Given the description of an element on the screen output the (x, y) to click on. 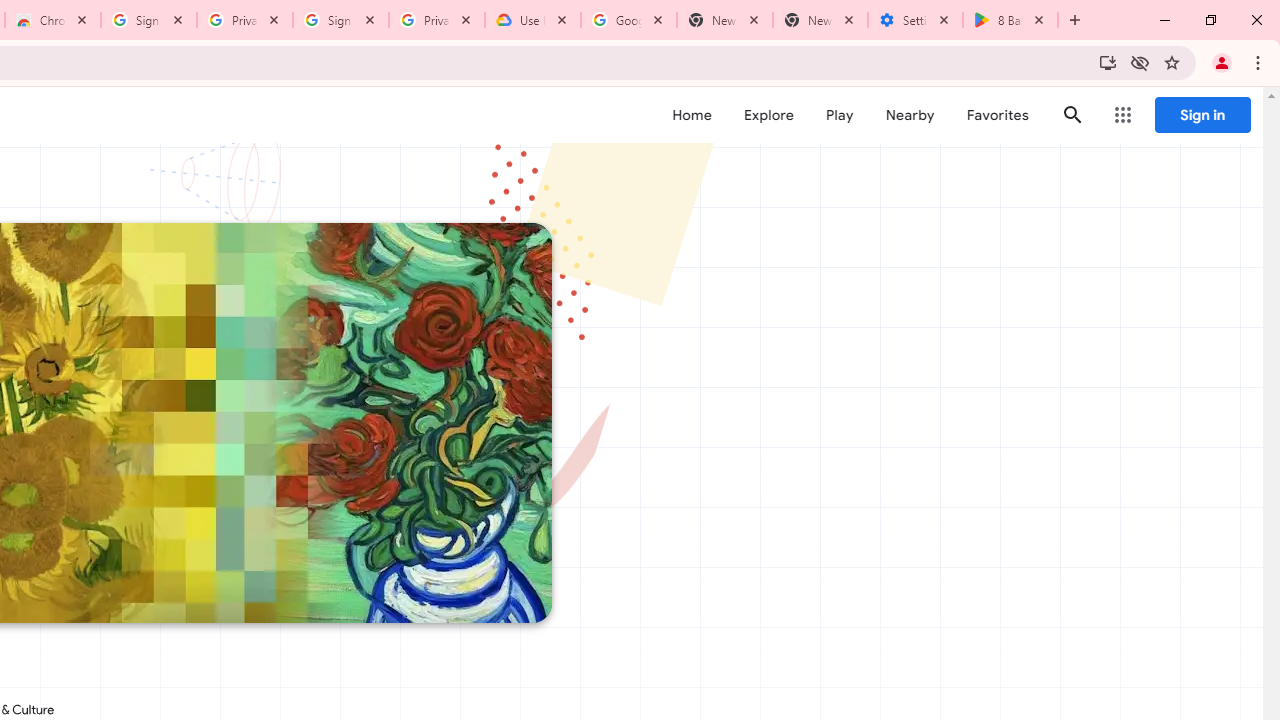
Install Google Arts & Culture (1107, 62)
Settings - System (914, 20)
Play (840, 115)
Home (691, 115)
8 Ball Pool - Apps on Google Play (1010, 20)
Favorites (996, 115)
